Given the description of an element on the screen output the (x, y) to click on. 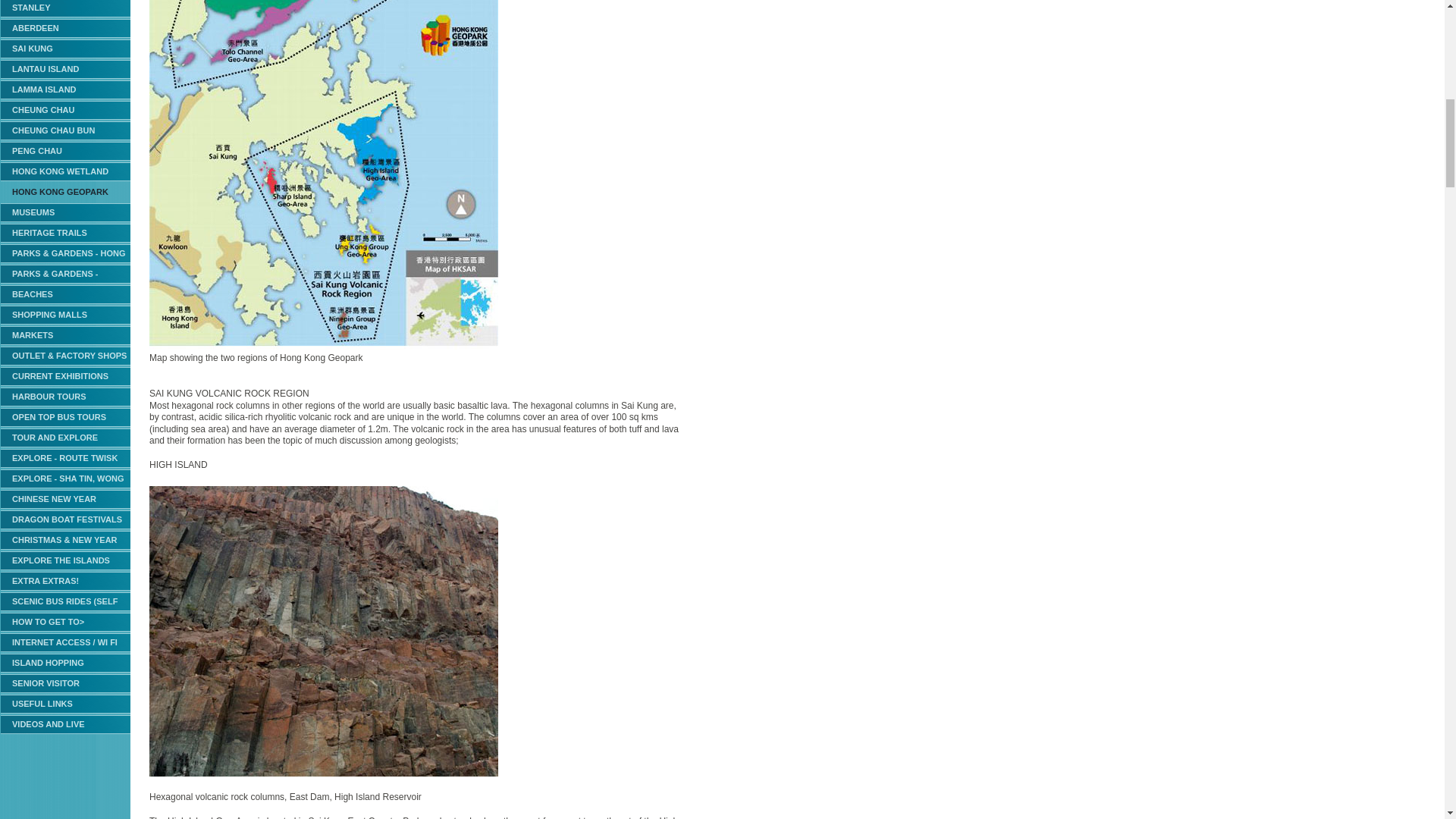
STANLEY (66, 8)
LANTAU ISLAND (66, 68)
LAMMA ISLAND (66, 89)
SAI KUNG (66, 48)
ABERDEEN (66, 27)
CHEUNG CHAU (66, 109)
